Given the description of an element on the screen output the (x, y) to click on. 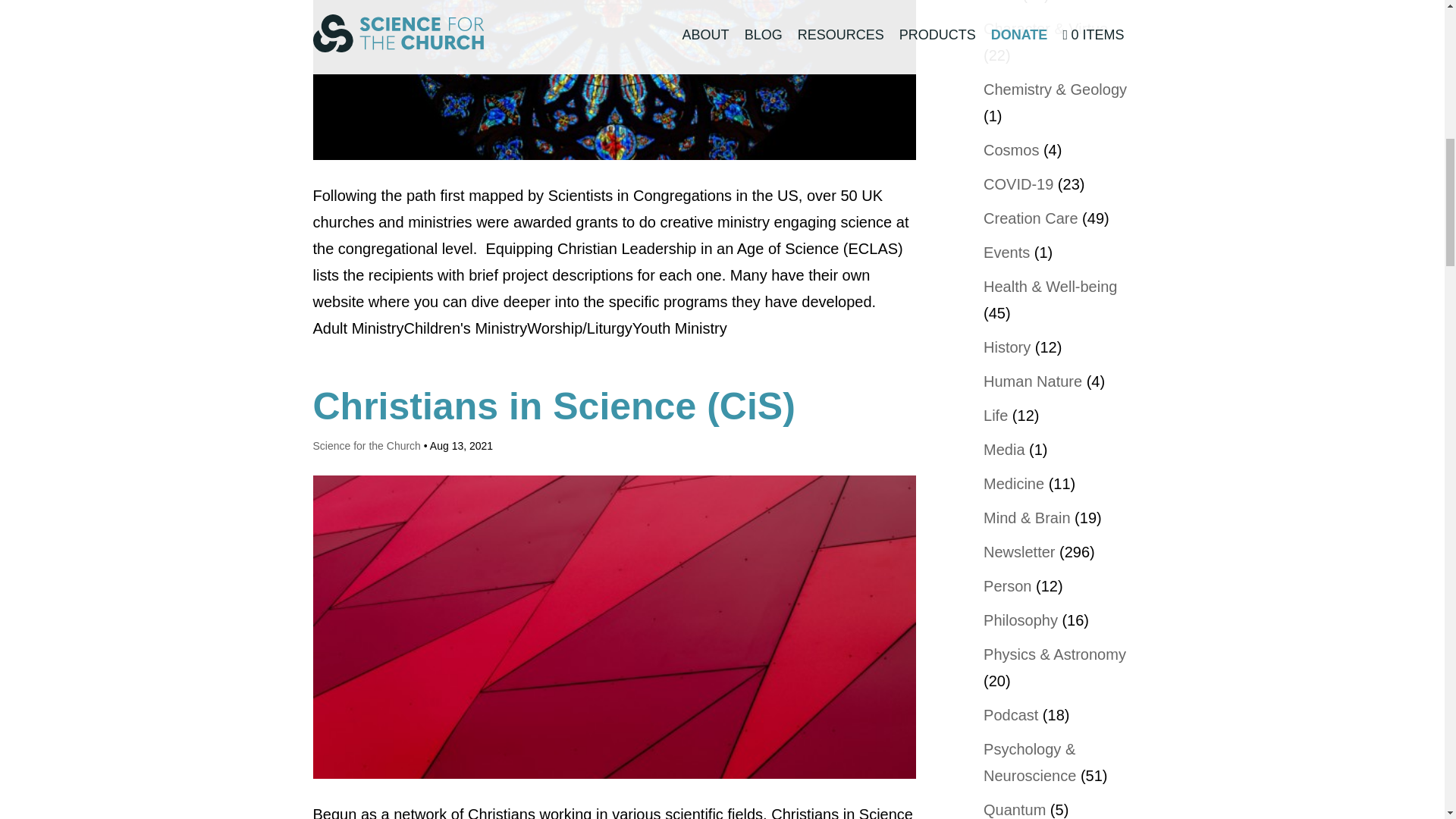
Posts by Science for the Church (366, 445)
Children's Ministry (465, 328)
Youth Ministry (678, 328)
Science for the Church (366, 445)
Adult Ministry (358, 328)
